Given the description of an element on the screen output the (x, y) to click on. 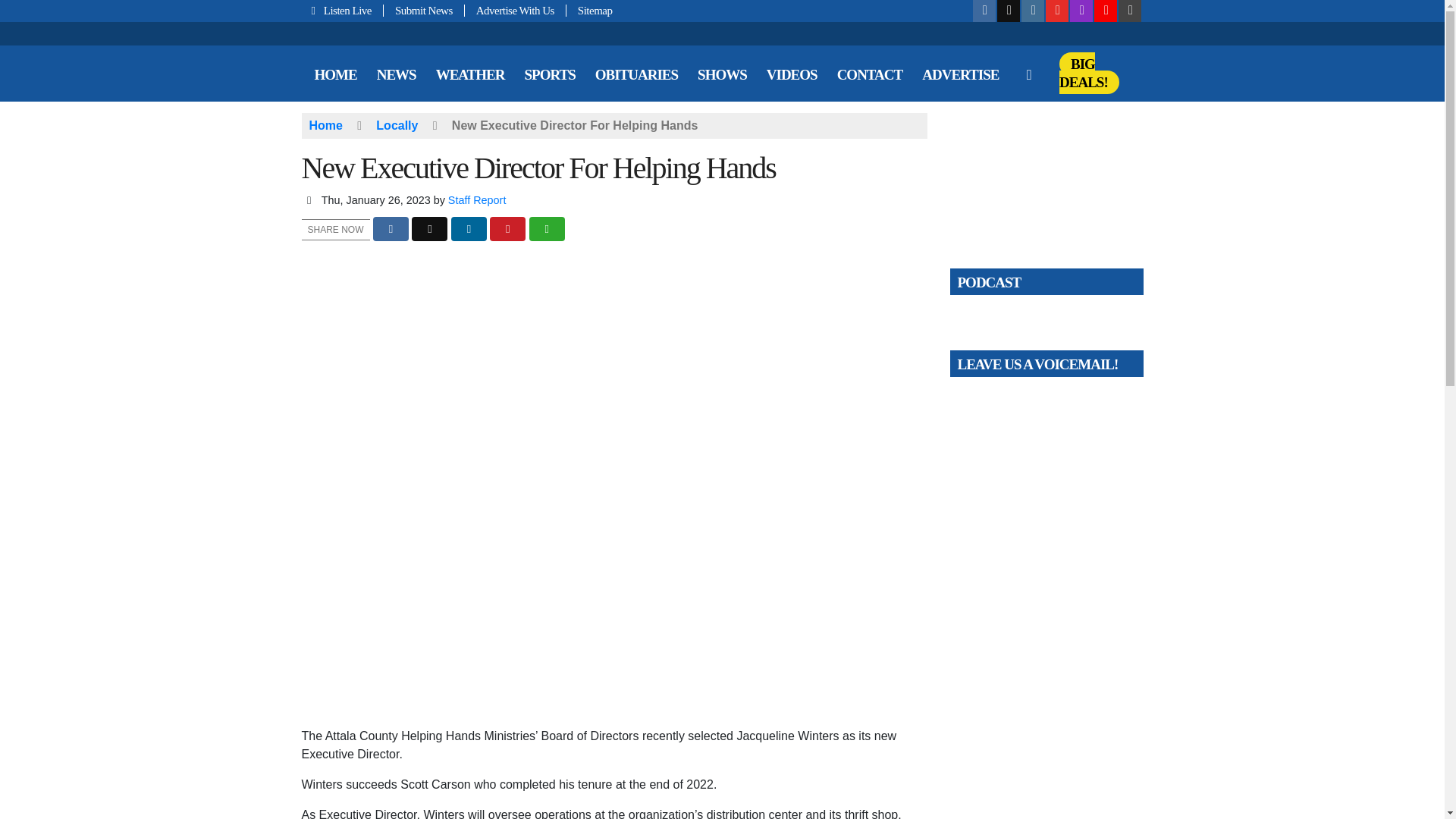
Follow us on Youtube (1056, 11)
Sitemap (589, 10)
Follow us on Facebook (983, 11)
Follow us on Soundcloud (1105, 11)
Follow us on X (1008, 11)
Follow our Podcast (1081, 11)
Follow us on Instagram (1032, 11)
Listen Live (342, 10)
Submit News (424, 10)
Advertise With Us (515, 10)
